Given the description of an element on the screen output the (x, y) to click on. 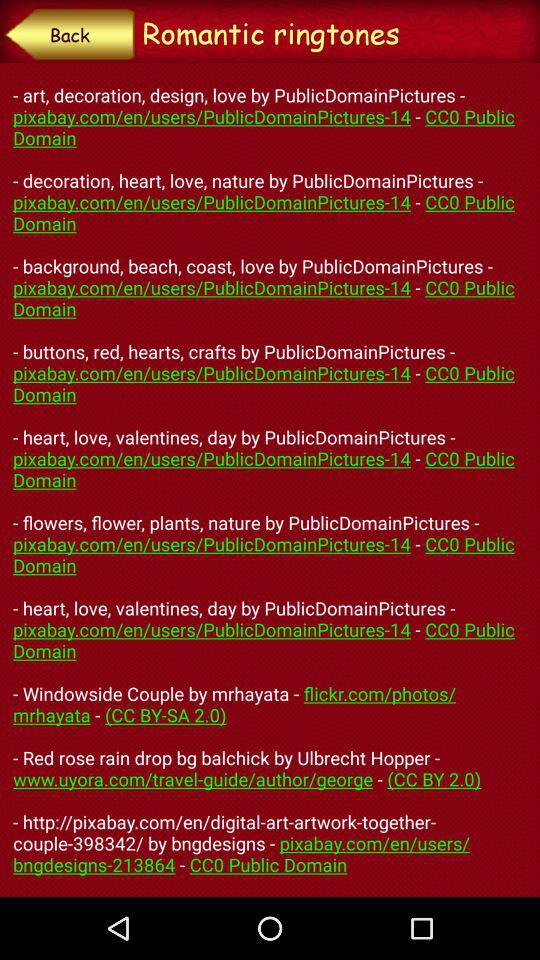
tap button below the back button (269, 479)
